Given the description of an element on the screen output the (x, y) to click on. 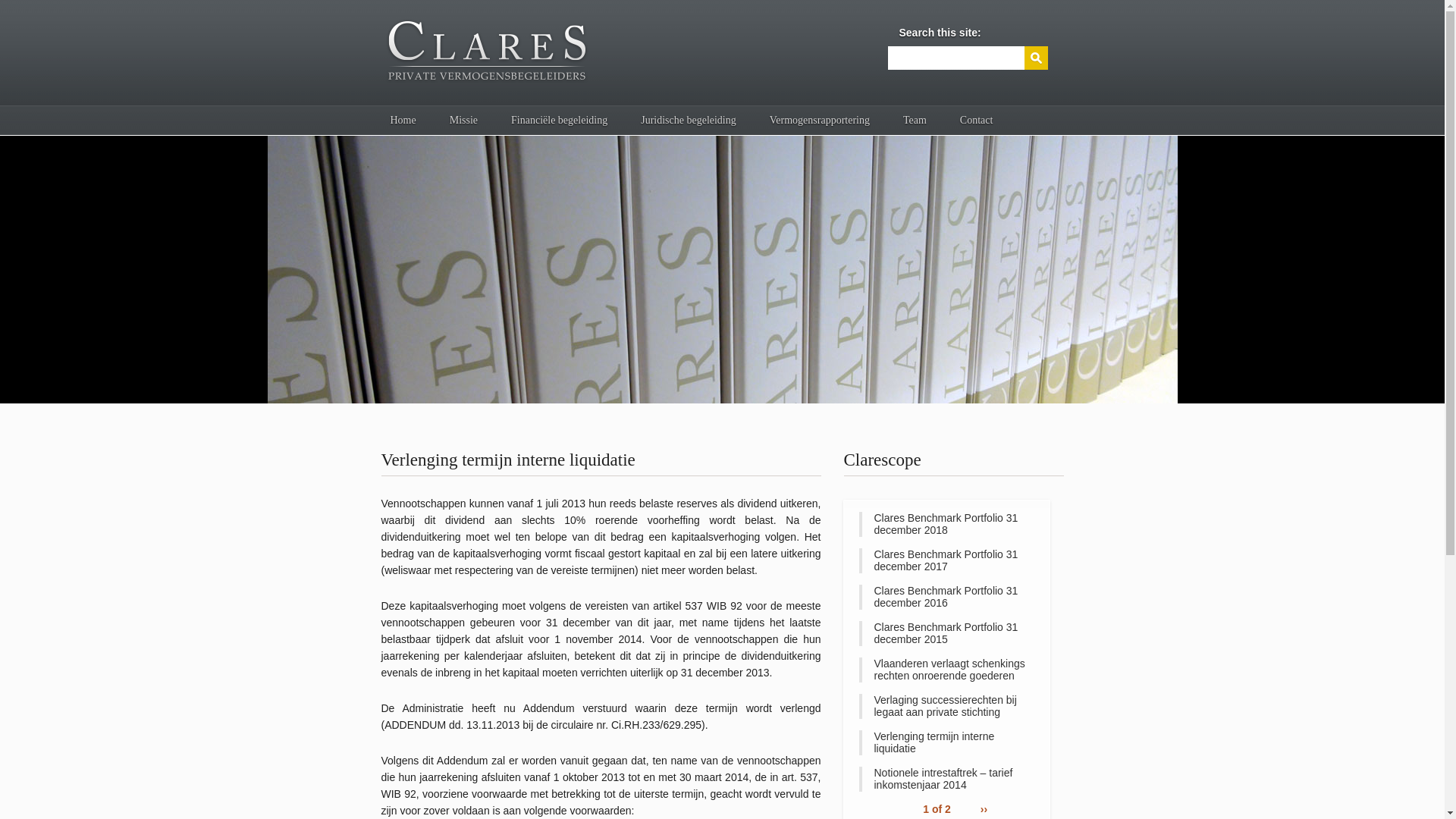
Vlaanderen verlaagt schenkings rechten onroerende goederen Element type: text (945, 669)
Clares Benchmark Portfolio 31 december 2017 Element type: text (945, 560)
Verlaging successierechten bij legaat aan private stichting Element type: text (945, 705)
Home Element type: text (402, 120)
Clares Element type: hover (721, 269)
Contact Element type: text (976, 120)
Clares Benchmark Portfolio 31 december 2018 Element type: text (945, 523)
Vermogensrapportering Element type: text (819, 120)
Verlenging termijn interne liquidatie Element type: text (945, 742)
Juridische begeleiding Element type: text (688, 120)
Team Element type: text (914, 120)
Enter the terms you wish to search for. Element type: hover (955, 57)
Clares Benchmark Portfolio 31 december 2016 Element type: text (945, 596)
Missie Element type: text (463, 120)
Clares Benchmark Portfolio 31 december 2015 Element type: text (945, 633)
